Given the description of an element on the screen output the (x, y) to click on. 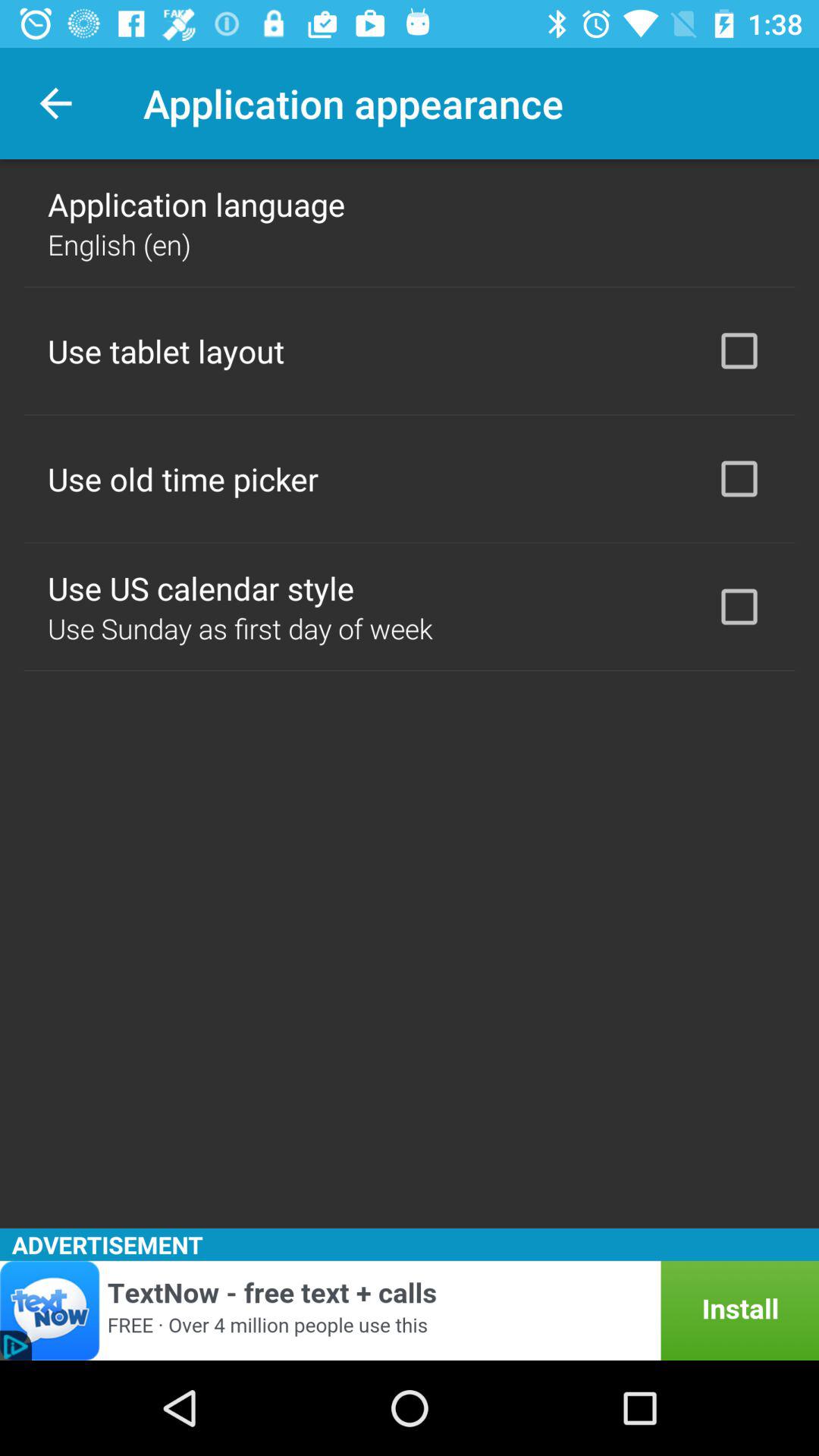
turn on icon next to use old time icon (739, 478)
